Given the description of an element on the screen output the (x, y) to click on. 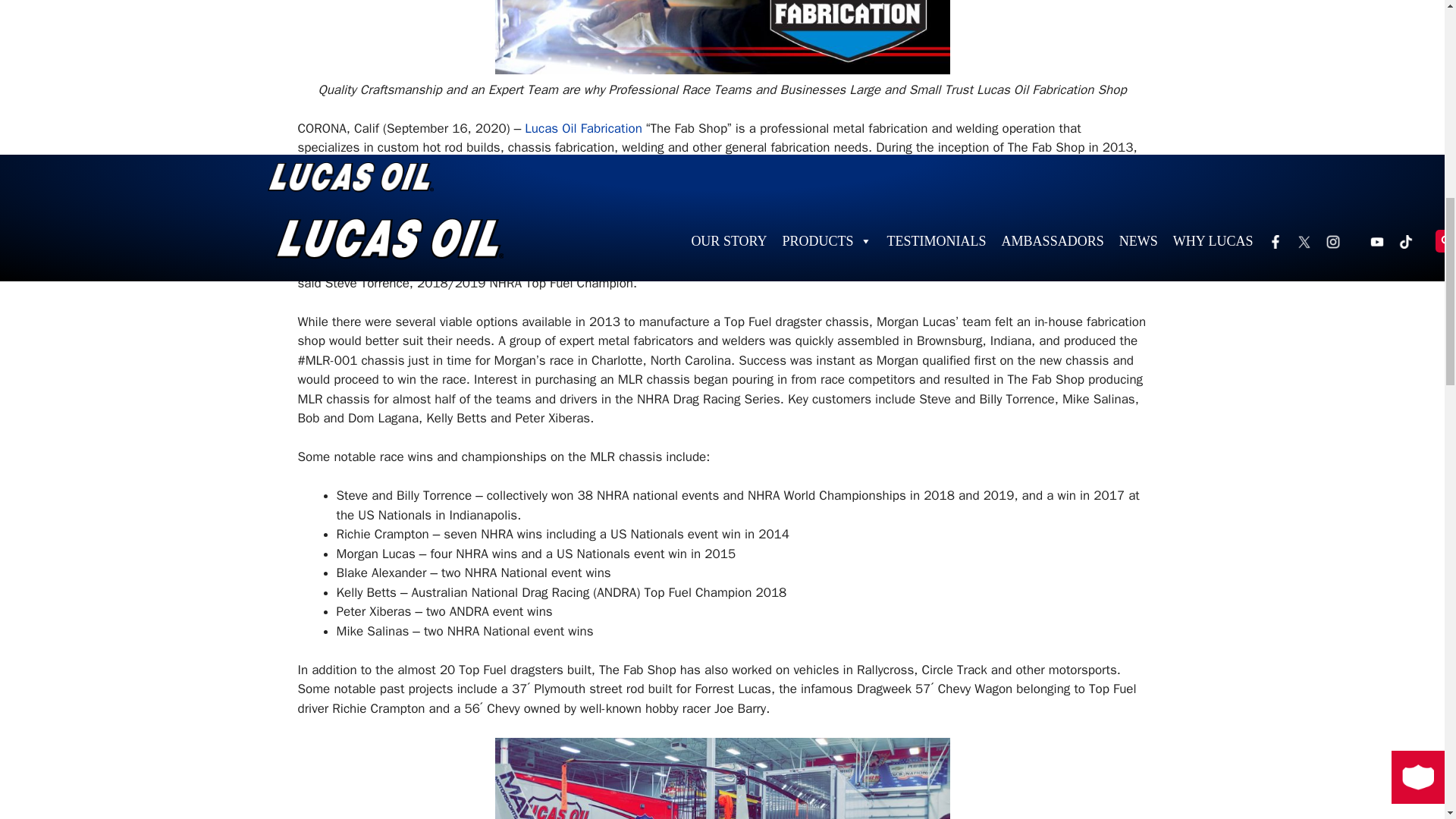
Scroll back to top (1406, 720)
